Given the description of an element on the screen output the (x, y) to click on. 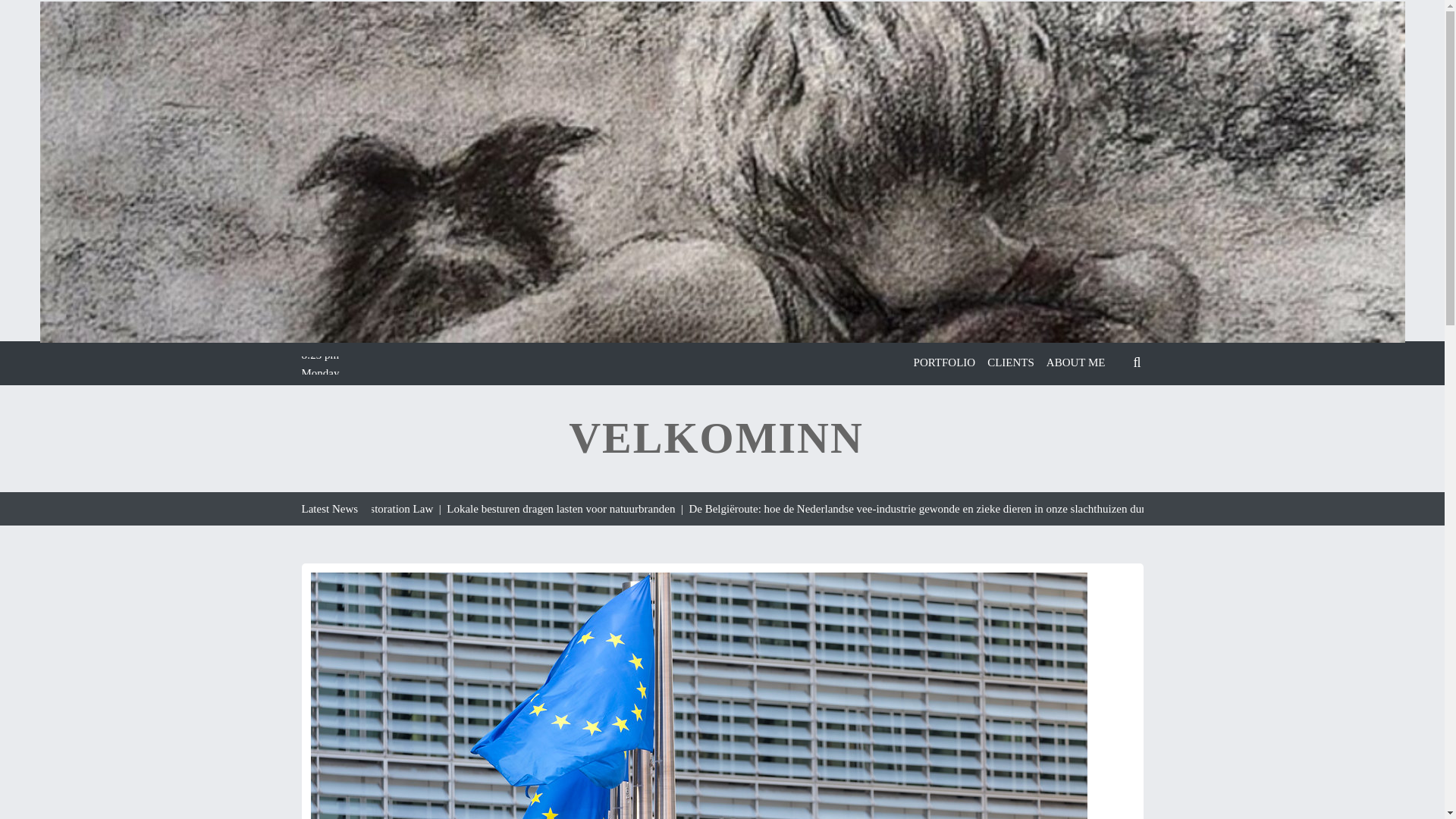
ABOUT ME (1076, 362)
PORTFOLIO (944, 362)
CLIENTS (1011, 362)
Search (1109, 399)
VELKOMINN (716, 437)
